Given the description of an element on the screen output the (x, y) to click on. 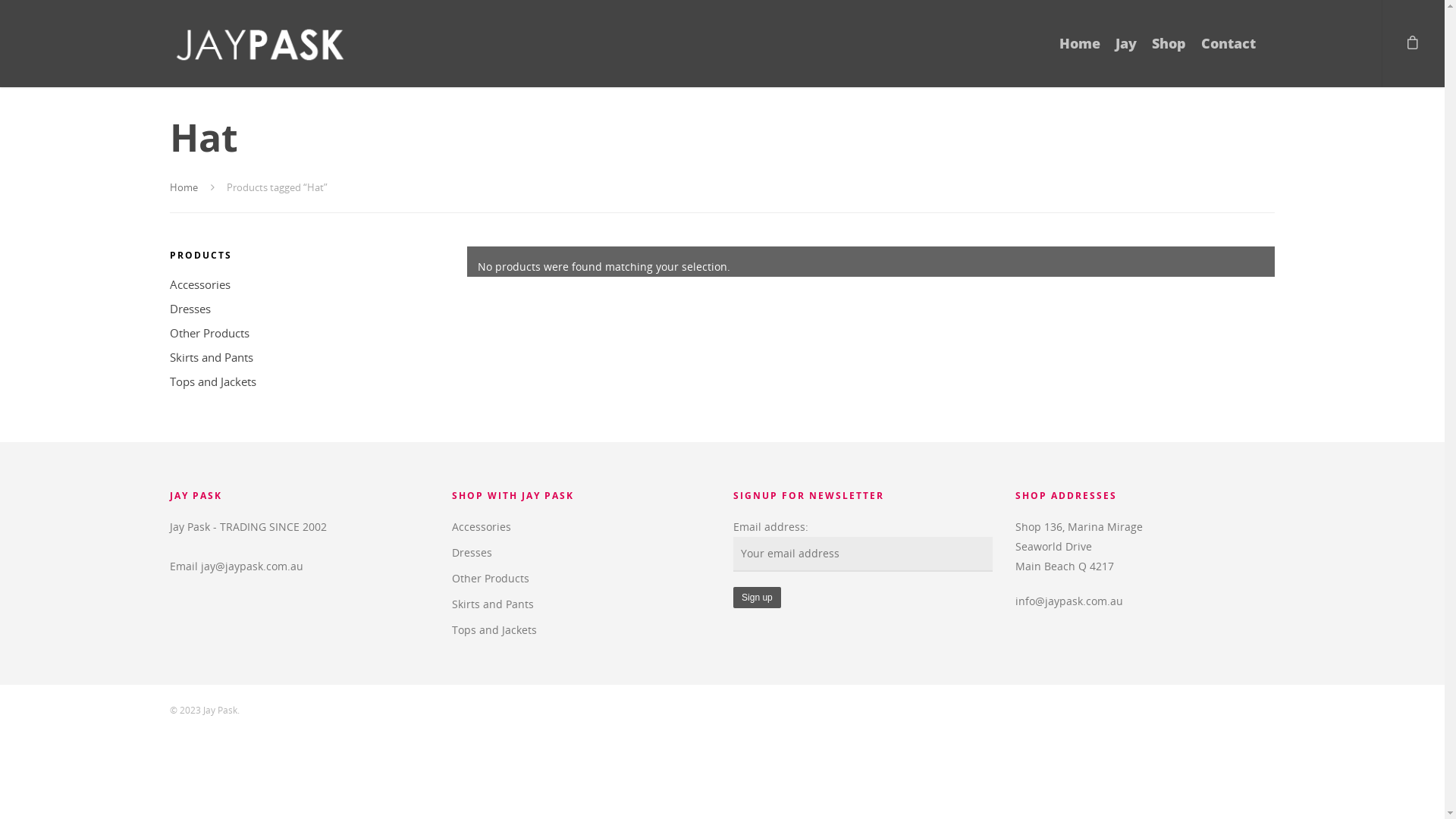
Skirts and Pants Element type: text (299, 356)
Dresses Element type: text (299, 308)
Shop Element type: text (1168, 54)
info@jaypask.com.au Element type: text (1069, 600)
Contact Element type: text (1228, 54)
Accessories Element type: text (581, 526)
Accessories Element type: text (299, 283)
Home Element type: text (183, 187)
Jay Element type: text (1125, 54)
Dresses Element type: text (581, 552)
Skirts and Pants Element type: text (581, 604)
Home Element type: text (1079, 54)
Other Products Element type: text (299, 332)
Tops and Jackets Element type: text (299, 381)
Other Products Element type: text (581, 578)
Sign up Element type: text (757, 597)
Tops and Jackets Element type: text (581, 630)
